Given the description of an element on the screen output the (x, y) to click on. 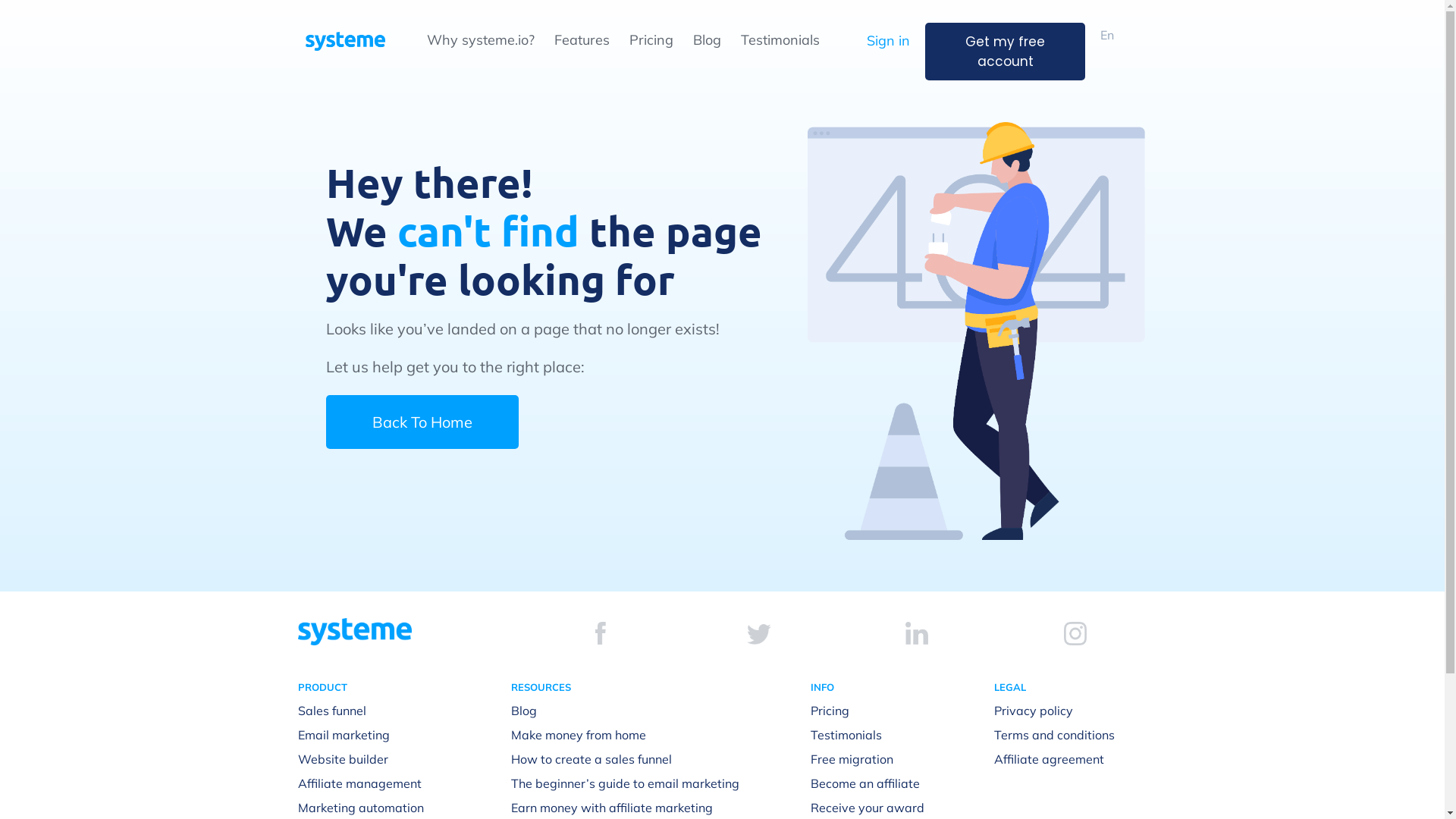
Earn money with affiliate marketing Element type: text (611, 807)
Email marketing Element type: text (343, 734)
Back To Home Element type: text (422, 421)
Receive your award Element type: text (867, 807)
Website builder Element type: text (342, 758)
Blog Element type: text (707, 39)
Make money from home Element type: text (578, 734)
Affiliate management Element type: text (358, 782)
Testimonials Element type: text (845, 734)
Why systeme.io? Element type: text (479, 39)
Get my free account Element type: text (1005, 51)
Sales funnel Element type: text (331, 710)
Sign in Element type: text (888, 40)
How to create a sales funnel Element type: text (591, 758)
Pricing Element type: text (651, 39)
Features Element type: text (580, 39)
Become an affiliate Element type: text (864, 782)
Terms and conditions Element type: text (1054, 734)
Affiliate agreement Element type: text (1049, 758)
Pricing Element type: text (829, 710)
Blog Element type: text (523, 710)
Free migration Element type: text (851, 758)
Marketing automation Element type: text (360, 807)
Testimonials Element type: text (779, 39)
Privacy policy Element type: text (1033, 710)
